Given the description of an element on the screen output the (x, y) to click on. 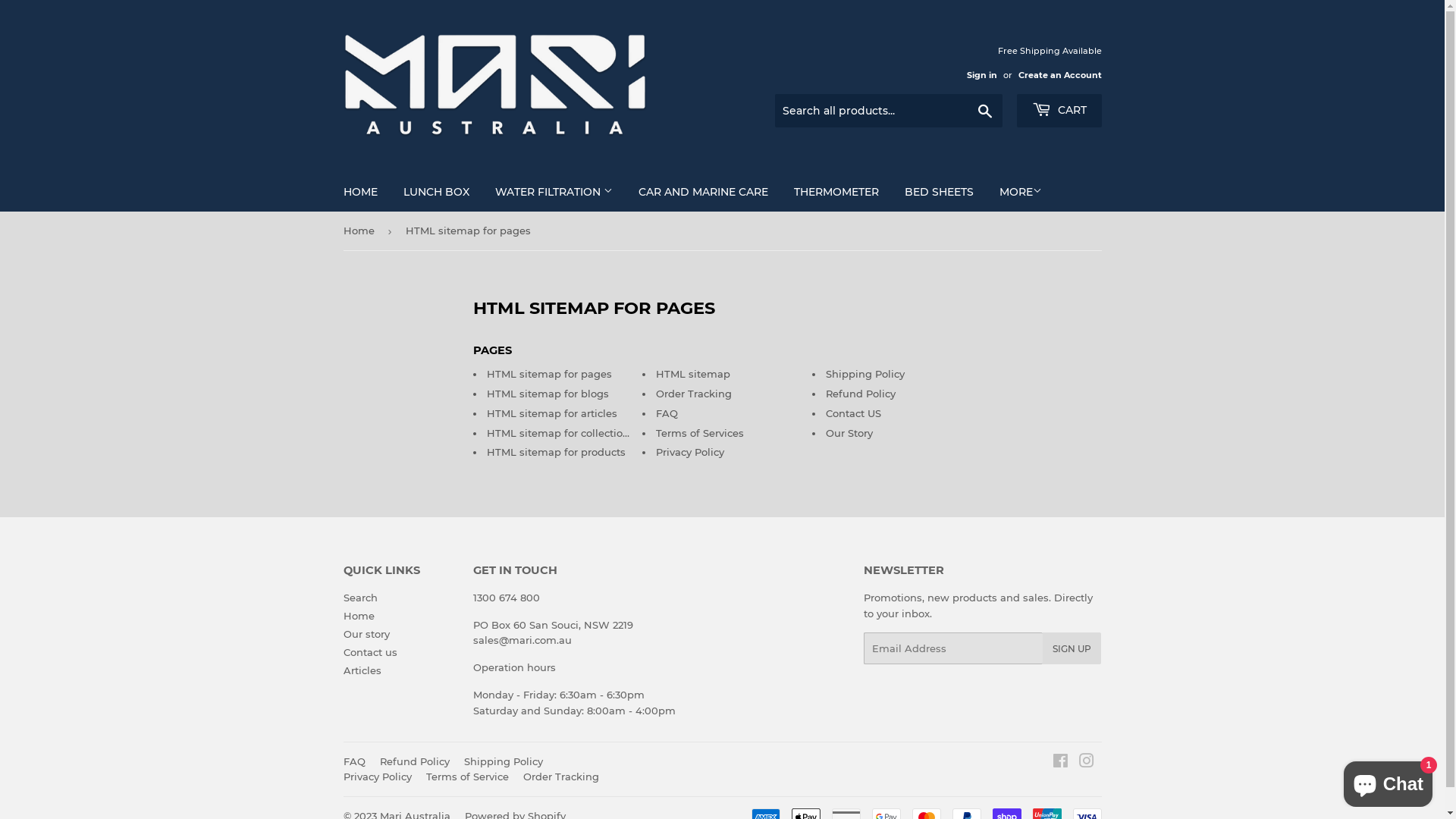
1300 674 800 Element type: text (506, 597)
HTML sitemap for pages Element type: text (548, 373)
CAR AND MARINE CARE Element type: text (702, 191)
FAQ Element type: text (353, 761)
CART Element type: text (1058, 110)
Order Tracking Element type: text (561, 776)
FAQ Element type: text (666, 413)
Shipping Policy Element type: text (503, 761)
Instagram Element type: text (1085, 762)
HOME Element type: text (360, 191)
SIGN UP Element type: text (1071, 648)
Shipping Policy Element type: text (864, 373)
Our Story Element type: text (848, 432)
HTML sitemap for collections Element type: text (560, 432)
Refund Policy Element type: text (860, 393)
HTML sitemap for products Element type: text (555, 451)
LUNCH BOX Element type: text (435, 191)
BED SHEETS Element type: text (939, 191)
Contact US Element type: text (853, 413)
Terms of Service Element type: text (467, 776)
Terms of Services Element type: text (699, 432)
Privacy Policy Element type: text (376, 776)
Our story Element type: text (365, 633)
Search Element type: text (359, 597)
Home Element type: text (357, 615)
Privacy Policy Element type: text (689, 451)
Home Element type: text (360, 230)
Search Element type: text (984, 111)
WATER FILTRATION Element type: text (553, 191)
HTML sitemap for blogs Element type: text (547, 393)
Refund Policy Element type: text (413, 761)
Sign in Element type: text (981, 74)
THERMOMETER Element type: text (836, 191)
HTML sitemap Element type: text (692, 373)
Facebook Element type: text (1060, 762)
Shopify online store chat Element type: hover (1388, 780)
HTML sitemap for articles Element type: text (551, 413)
sales@mari.com.au Element type: text (522, 639)
MORE Element type: text (1019, 191)
Create an Account Element type: text (1059, 74)
Articles Element type: text (361, 670)
Contact us Element type: text (369, 652)
Order Tracking Element type: text (693, 393)
